Given the description of an element on the screen output the (x, y) to click on. 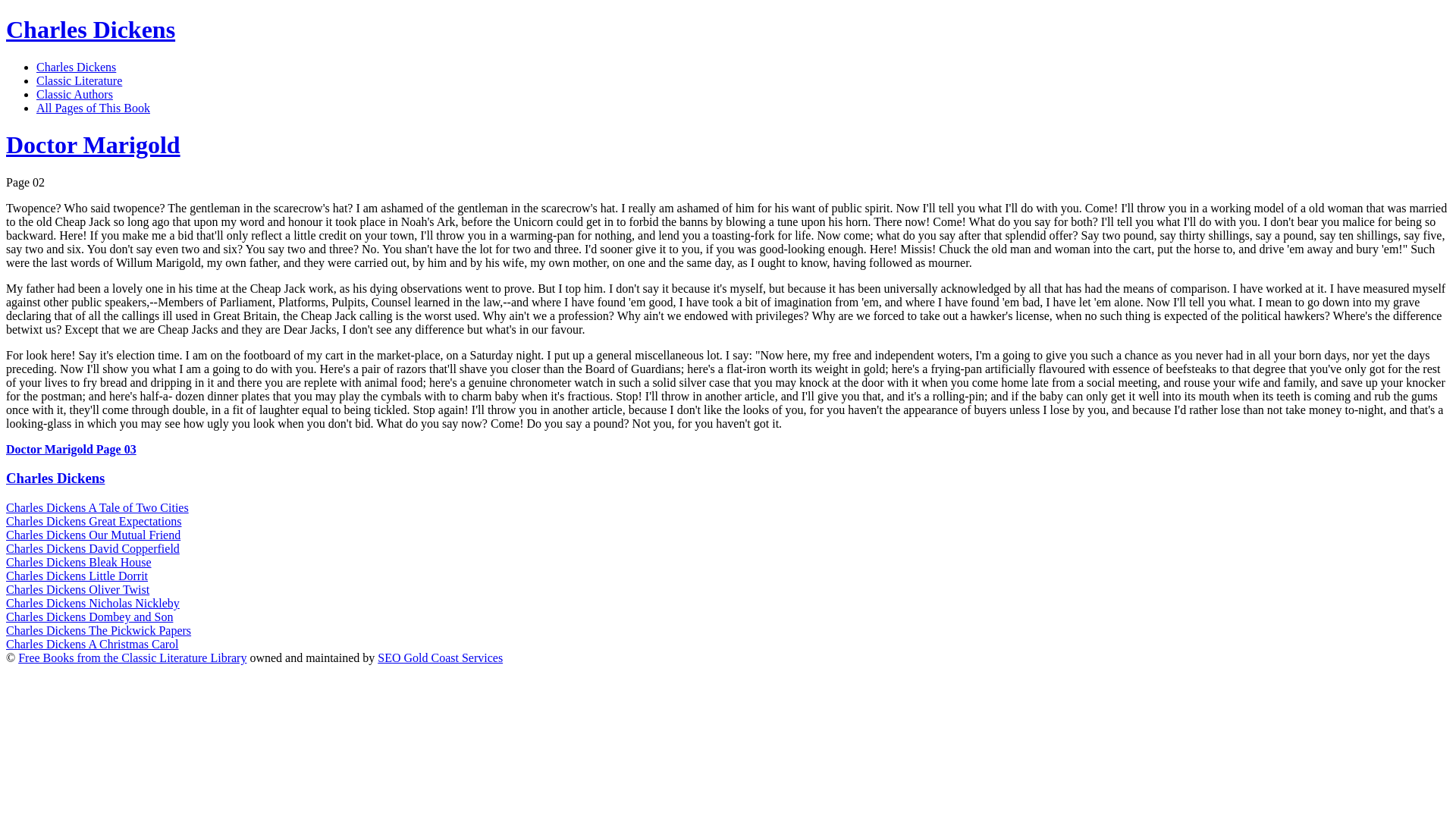
Charles Dickens Dombey and Son (89, 616)
Classic Authors (74, 93)
Charles Dickens (54, 478)
Charles Dickens The Pickwick Papers (97, 630)
Classic Literature (79, 80)
Charles Dickens (89, 29)
Charles Dickens Bleak House (78, 562)
Charles Dickens Our Mutual Friend (92, 534)
Doctor Marigold Page 03 (70, 449)
Charles Dickens A Tale of Two Cities (97, 507)
